Given the description of an element on the screen output the (x, y) to click on. 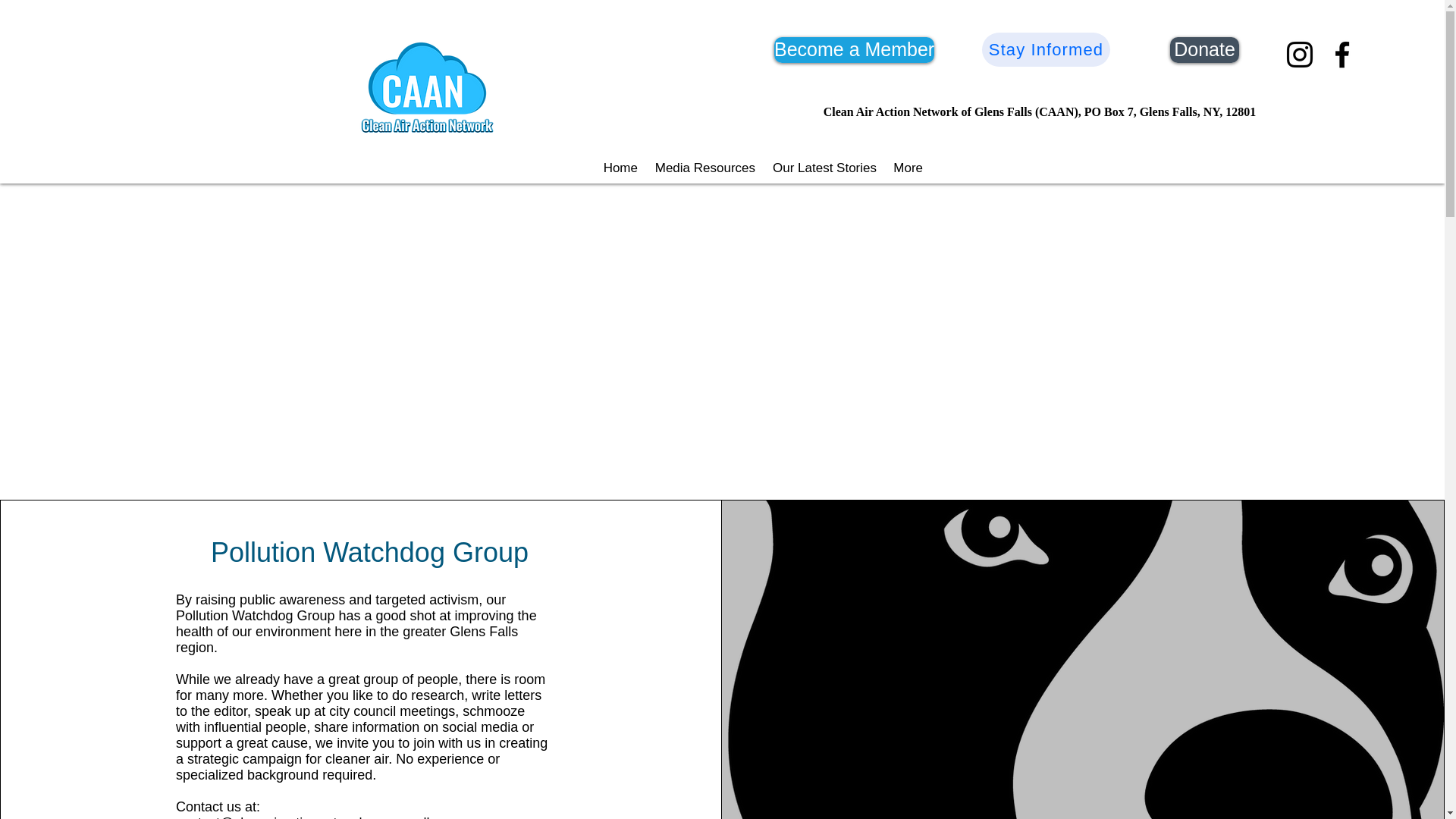
Become a Member (854, 49)
Donate (1204, 49)
Stay Informed (1045, 49)
Home (618, 168)
Our Latest Stories (822, 168)
Media Resources (703, 168)
